Given the description of an element on the screen output the (x, y) to click on. 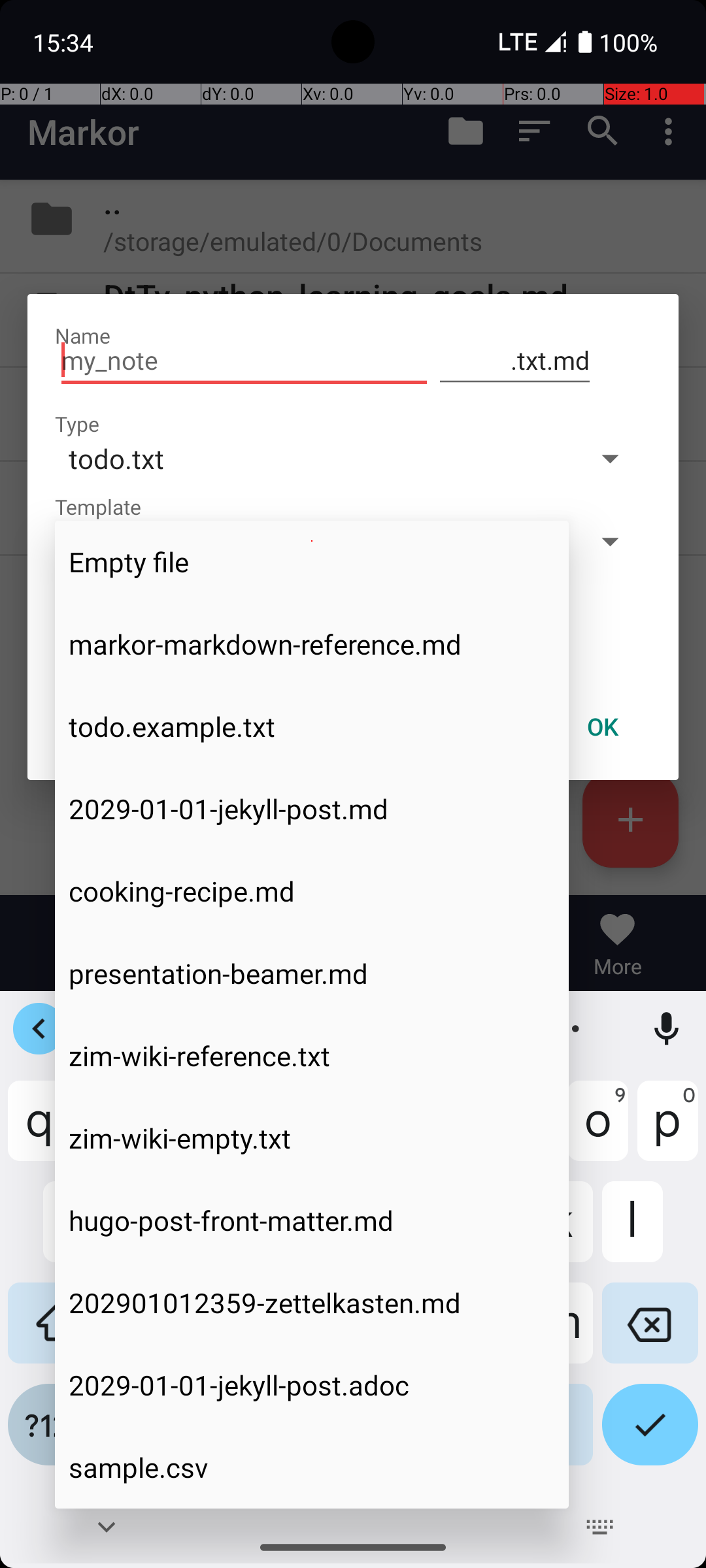
markor-markdown-reference.md Element type: android.widget.CheckedTextView (311, 644)
todo.example.txt Element type: android.widget.CheckedTextView (311, 726)
2029-01-01-jekyll-post.md Element type: android.widget.CheckedTextView (311, 808)
cooking-recipe.md Element type: android.widget.CheckedTextView (311, 890)
presentation-beamer.md Element type: android.widget.CheckedTextView (311, 973)
zim-wiki-reference.txt Element type: android.widget.CheckedTextView (311, 1055)
zim-wiki-empty.txt Element type: android.widget.CheckedTextView (311, 1137)
hugo-post-front-matter.md Element type: android.widget.CheckedTextView (311, 1220)
202901012359-zettelkasten.md Element type: android.widget.CheckedTextView (311, 1302)
2029-01-01-jekyll-post.adoc Element type: android.widget.CheckedTextView (311, 1384)
sample.csv Element type: android.widget.CheckedTextView (311, 1467)
